Given the description of an element on the screen output the (x, y) to click on. 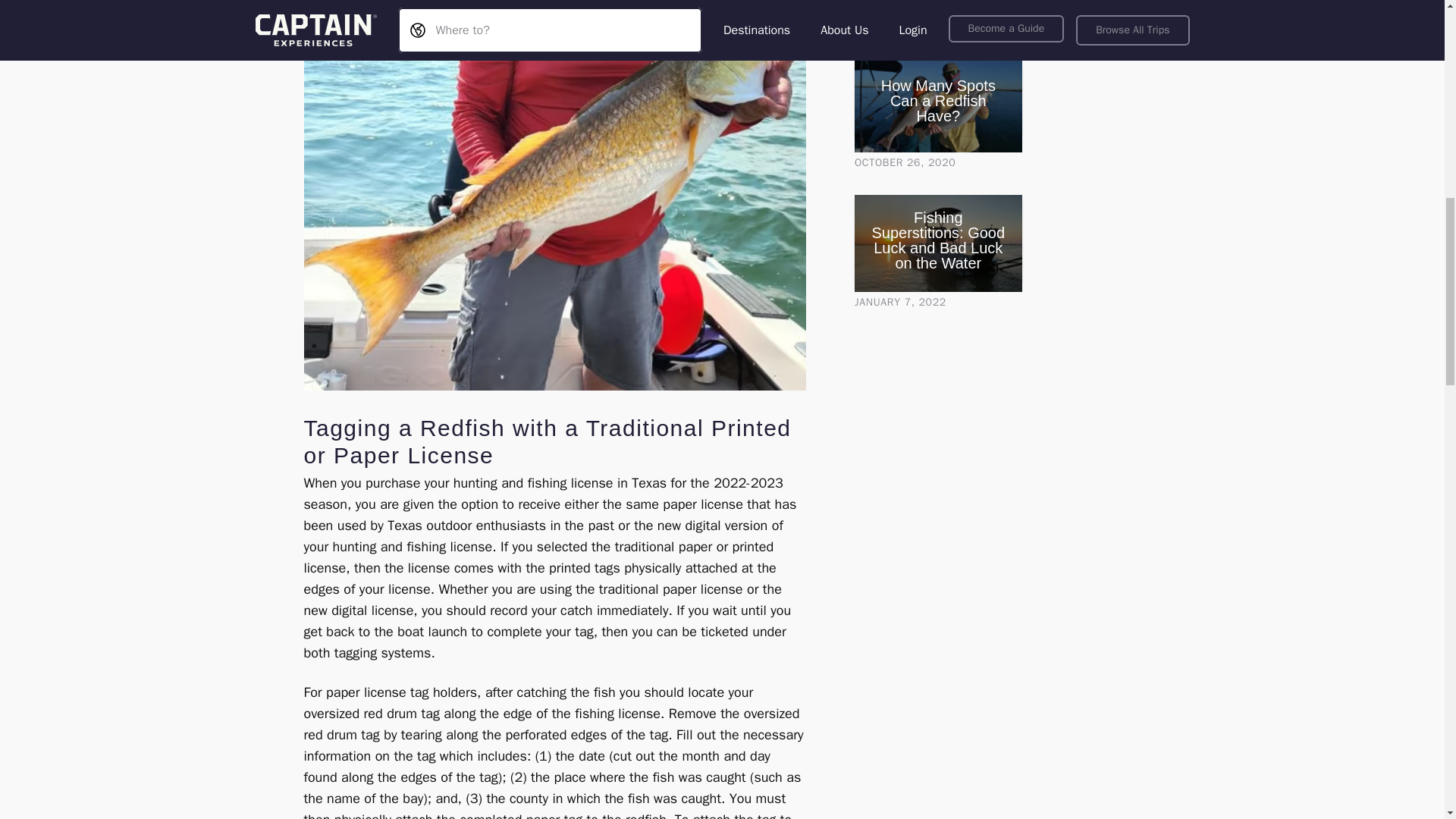
Fishing Superstitions: Good Luck and Bad Luck on the Water (938, 242)
How Many Spots Can a Redfish Have? (938, 100)
How Many Spots Can a Redfish Have? (938, 103)
Texas Tarpon - A Fishery Fit for Presidents (938, 6)
Fishing Superstitions: Good Luck and Bad Luck on the Water (938, 240)
